Given the description of an element on the screen output the (x, y) to click on. 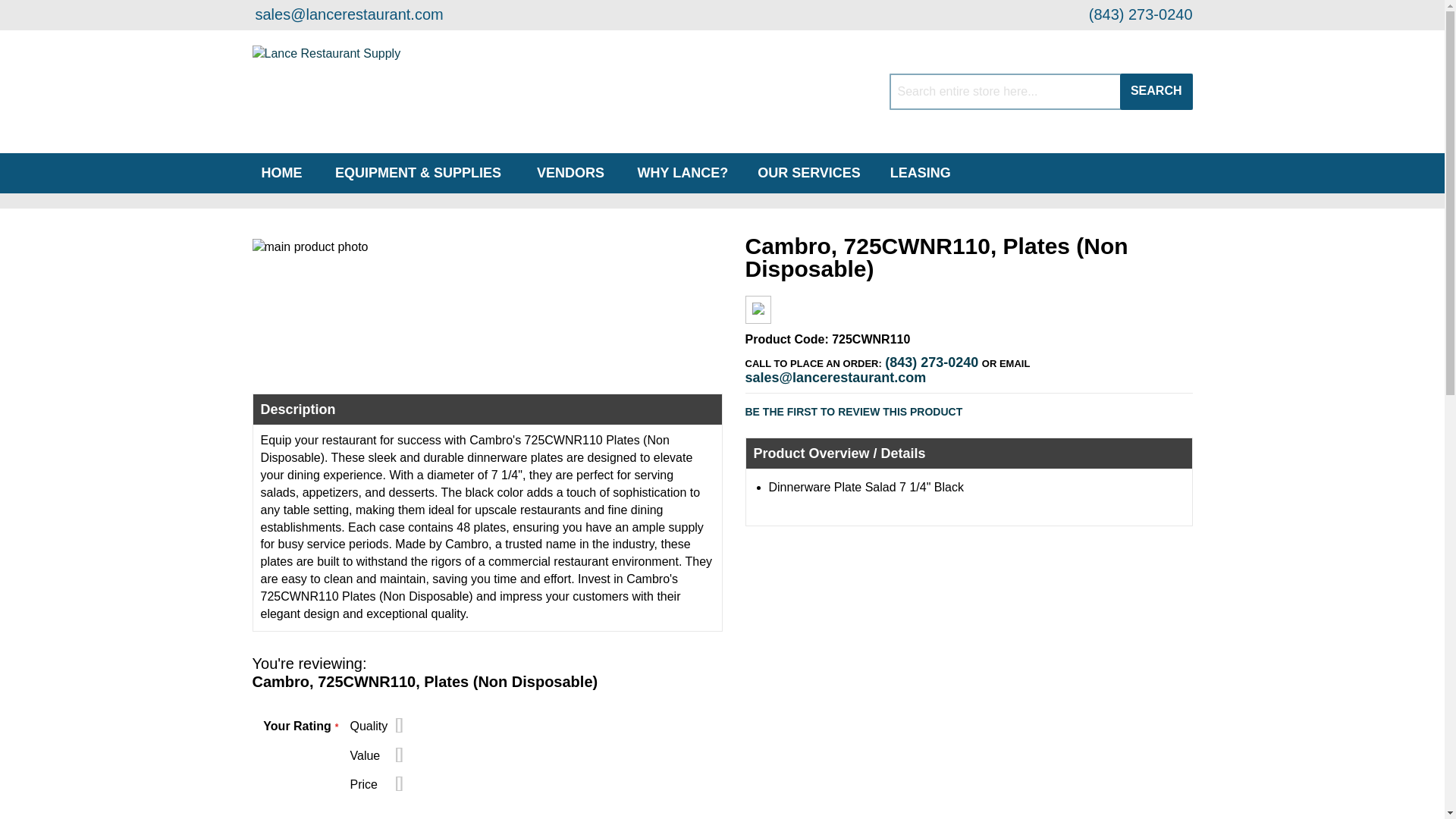
Cambro (758, 311)
Search (1155, 91)
HOME (281, 173)
Lance Restaurant Supply (353, 91)
SEARCH (1155, 91)
